Given the description of an element on the screen output the (x, y) to click on. 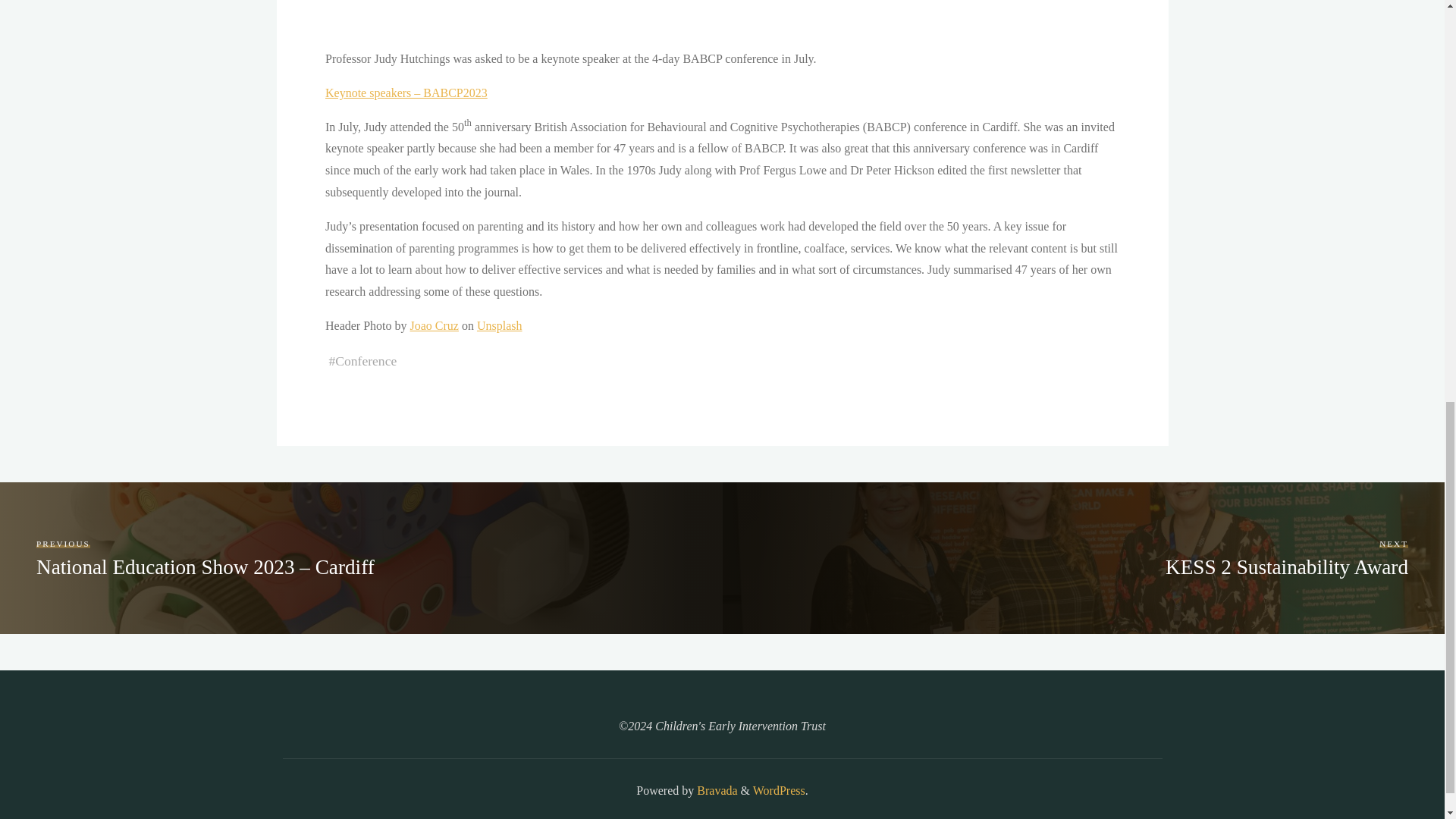
Bravada WordPress Theme by Cryout Creations (715, 789)
